Given the description of an element on the screen output the (x, y) to click on. 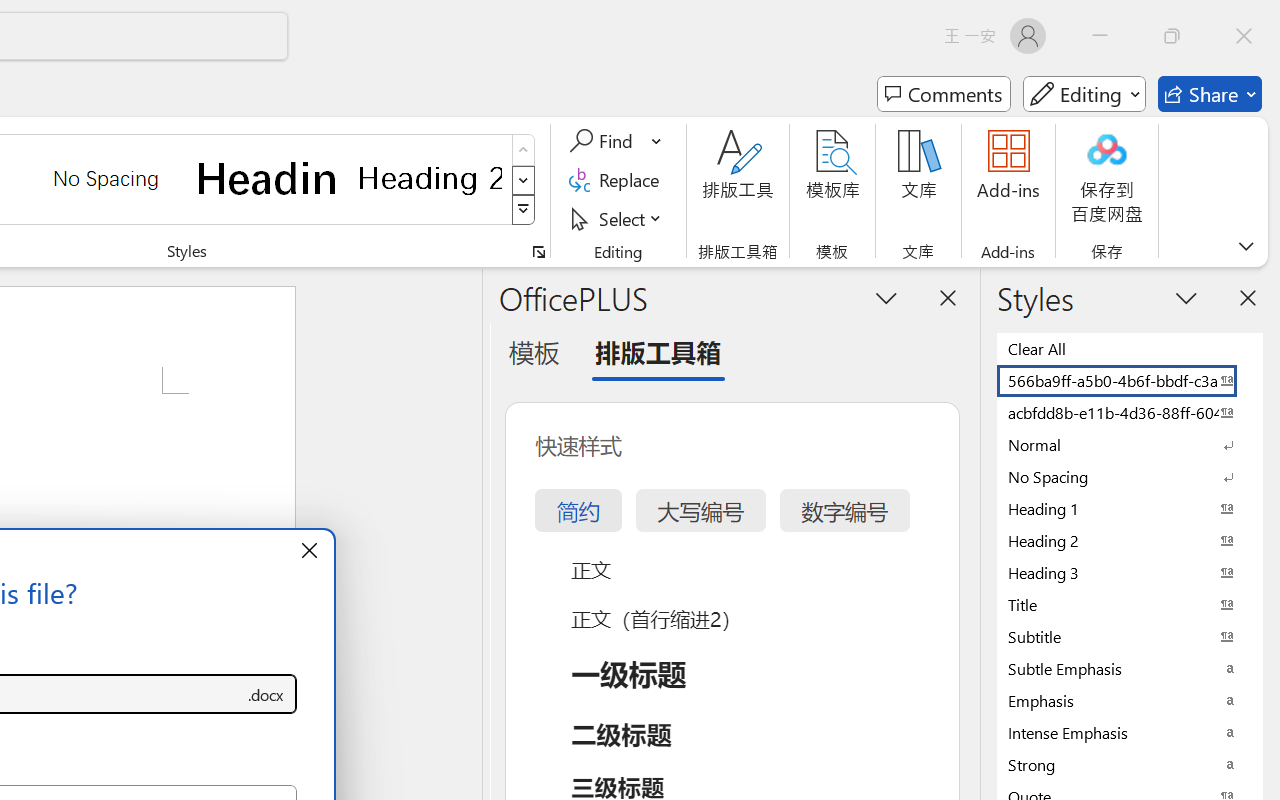
Heading 2 (429, 178)
Heading 1 (267, 178)
Select (618, 218)
Strong (1130, 764)
